Given the description of an element on the screen output the (x, y) to click on. 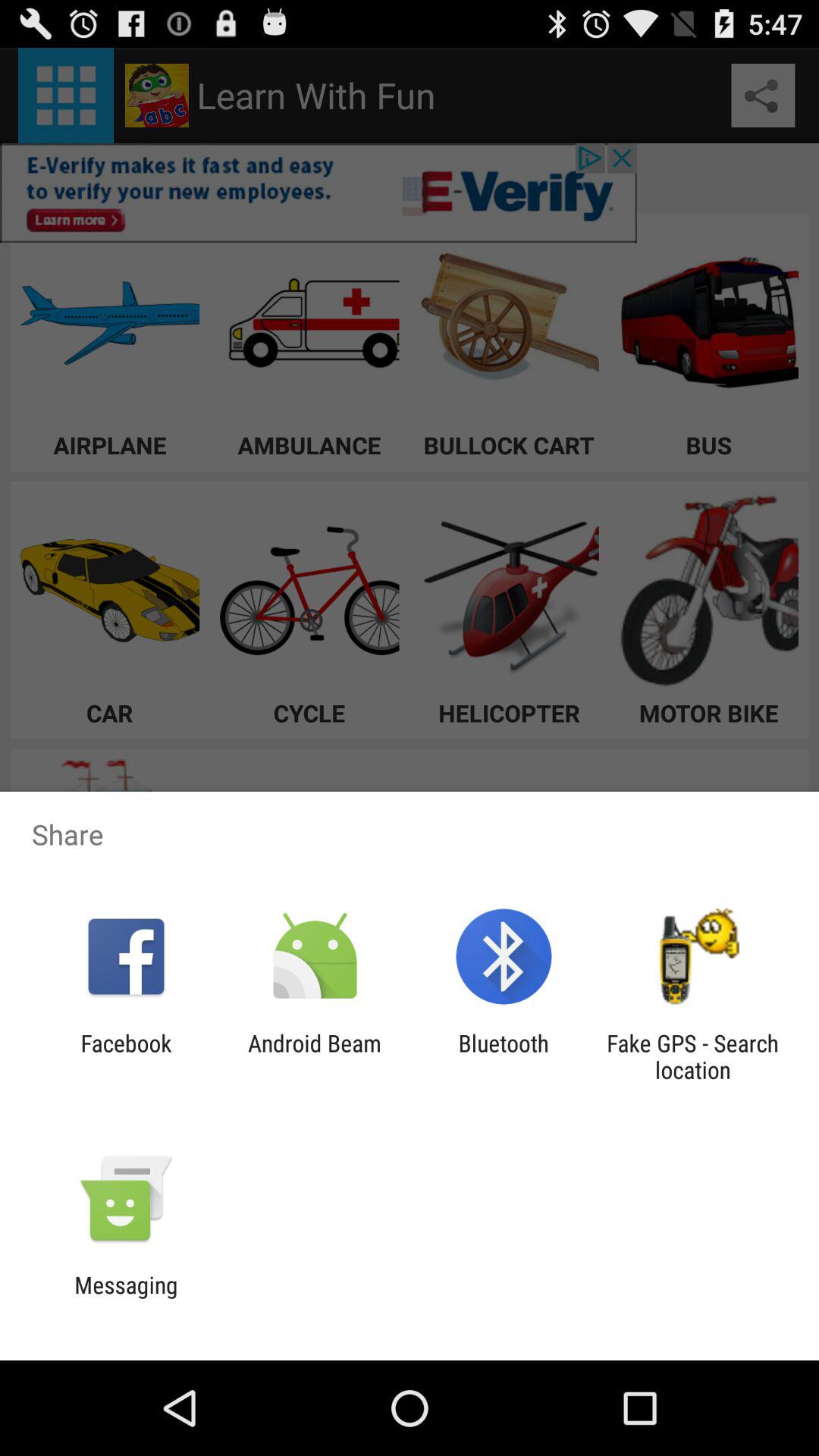
launch messaging icon (126, 1298)
